Given the description of an element on the screen output the (x, y) to click on. 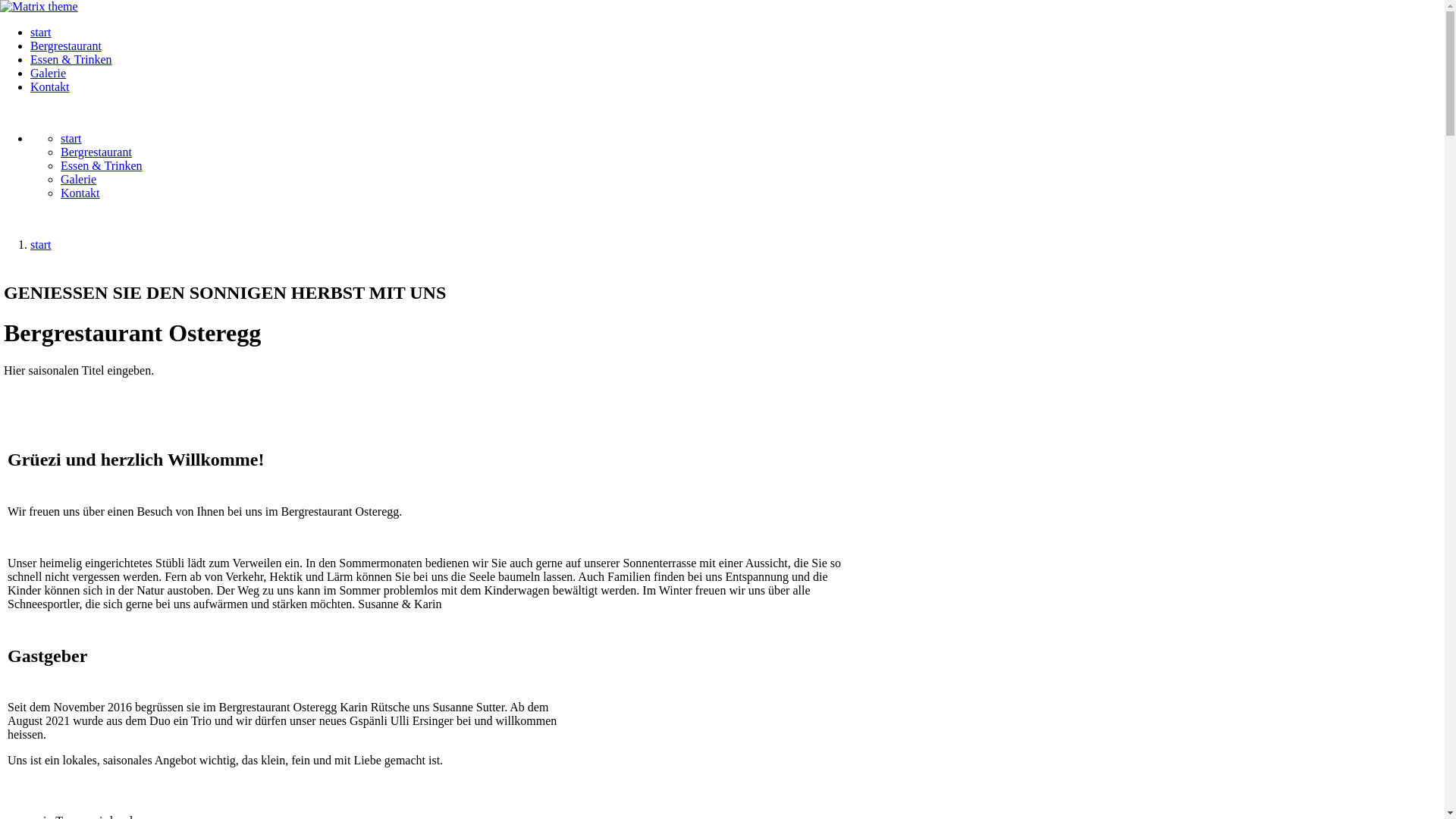
Essen & Trinken Element type: text (71, 59)
Kontakt Element type: text (80, 192)
start Element type: text (40, 244)
start Element type: text (40, 31)
Bergrestaurant Element type: text (65, 45)
Galerie Element type: text (78, 178)
Essen & Trinken Element type: text (101, 165)
Kontakt Element type: text (49, 86)
Bergrestaurant Element type: text (95, 151)
Galerie Element type: text (47, 72)
start Element type: text (70, 137)
